Given the description of an element on the screen output the (x, y) to click on. 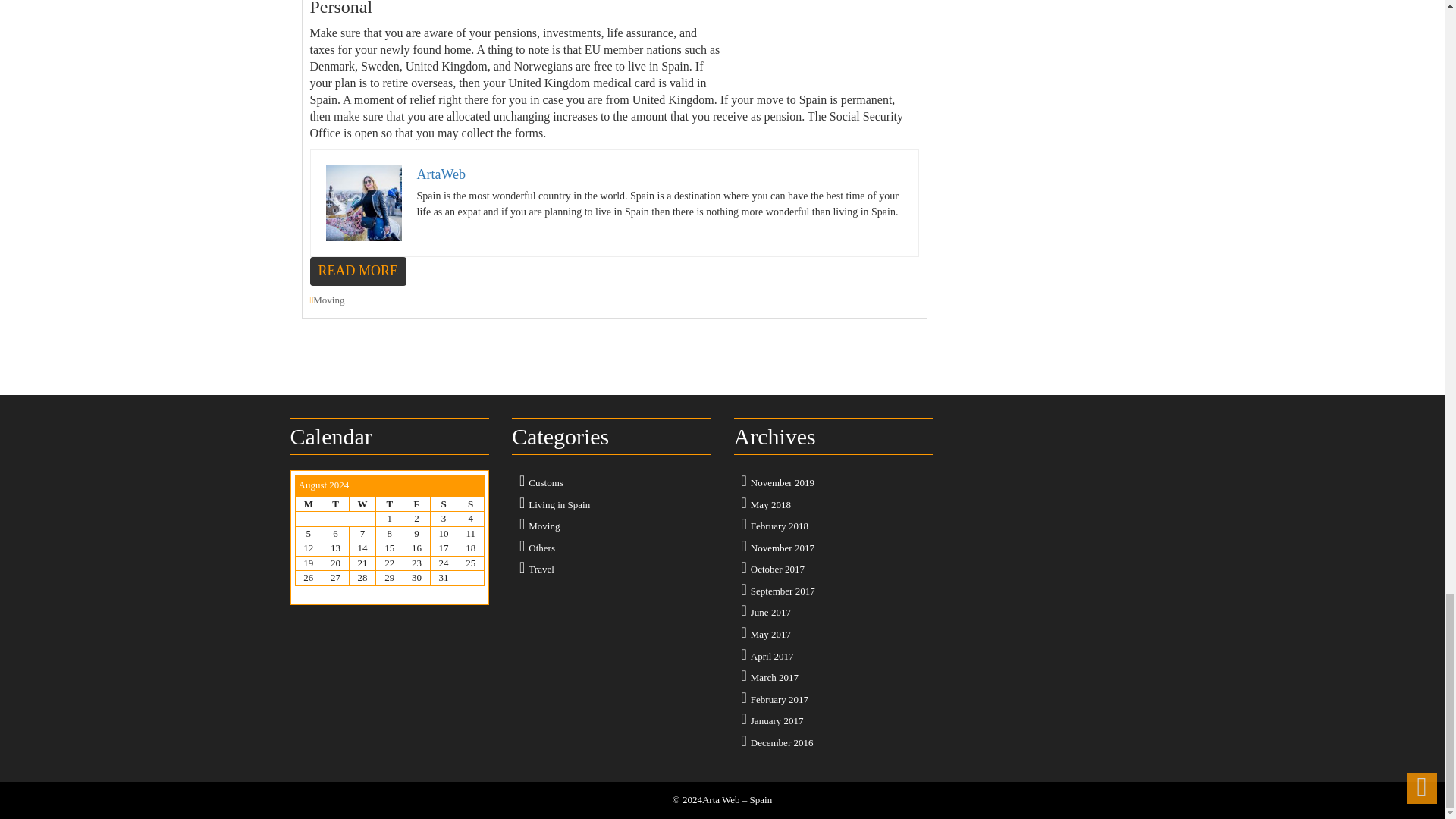
Tuesday (335, 503)
ArtaWeb (440, 174)
Sunday (470, 503)
Wednesday (362, 503)
Moving (328, 299)
READ MORE (357, 271)
Saturday (443, 503)
Living in Spain (558, 504)
Thursday (389, 503)
Monday (308, 503)
